Given the description of an element on the screen output the (x, y) to click on. 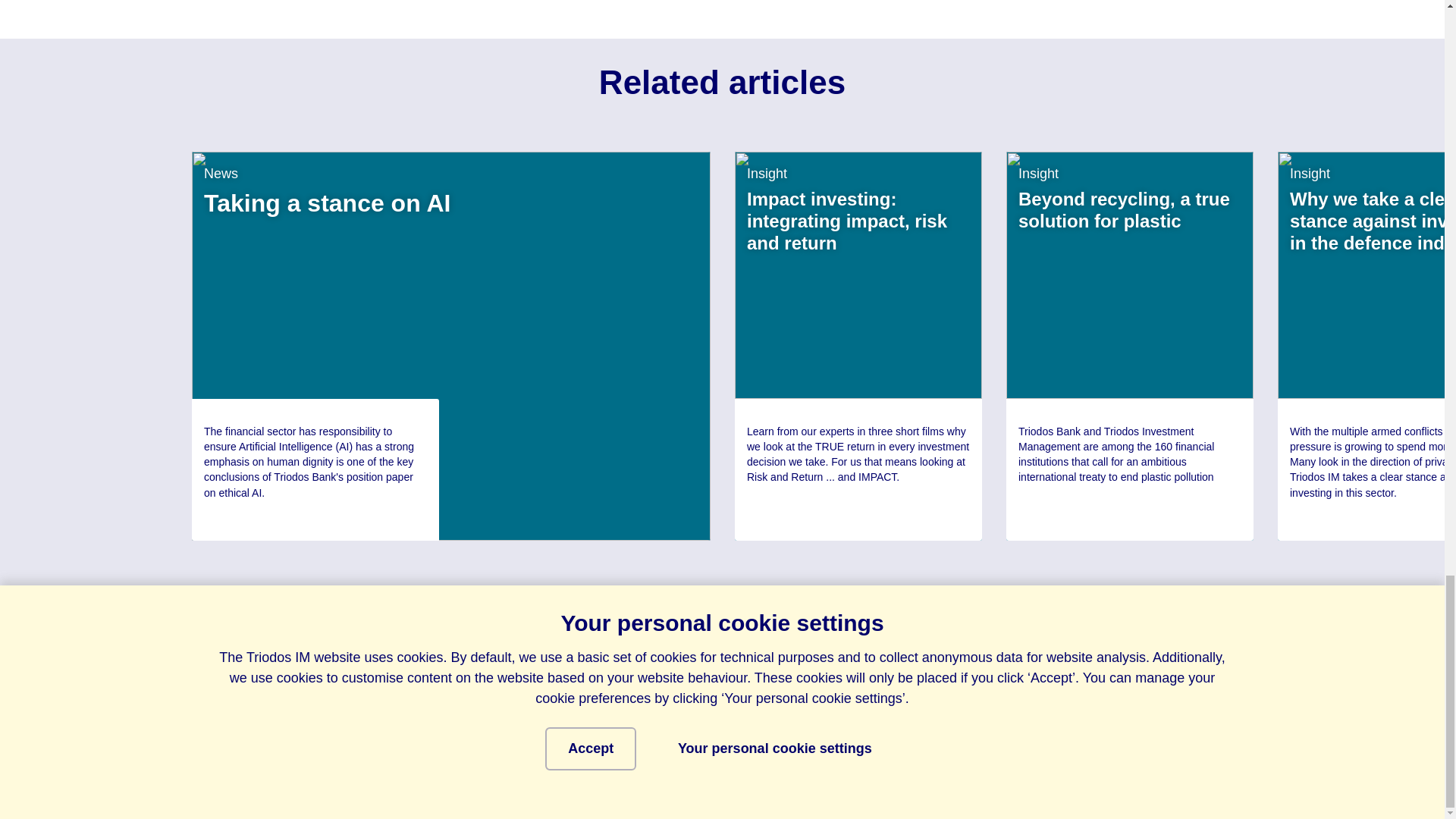
Accessibility (1124, 759)
LinkedIn (299, 758)
Privacy (1028, 759)
Governance (817, 759)
Careers (1220, 759)
Terms of Use (930, 759)
